Given the description of an element on the screen output the (x, y) to click on. 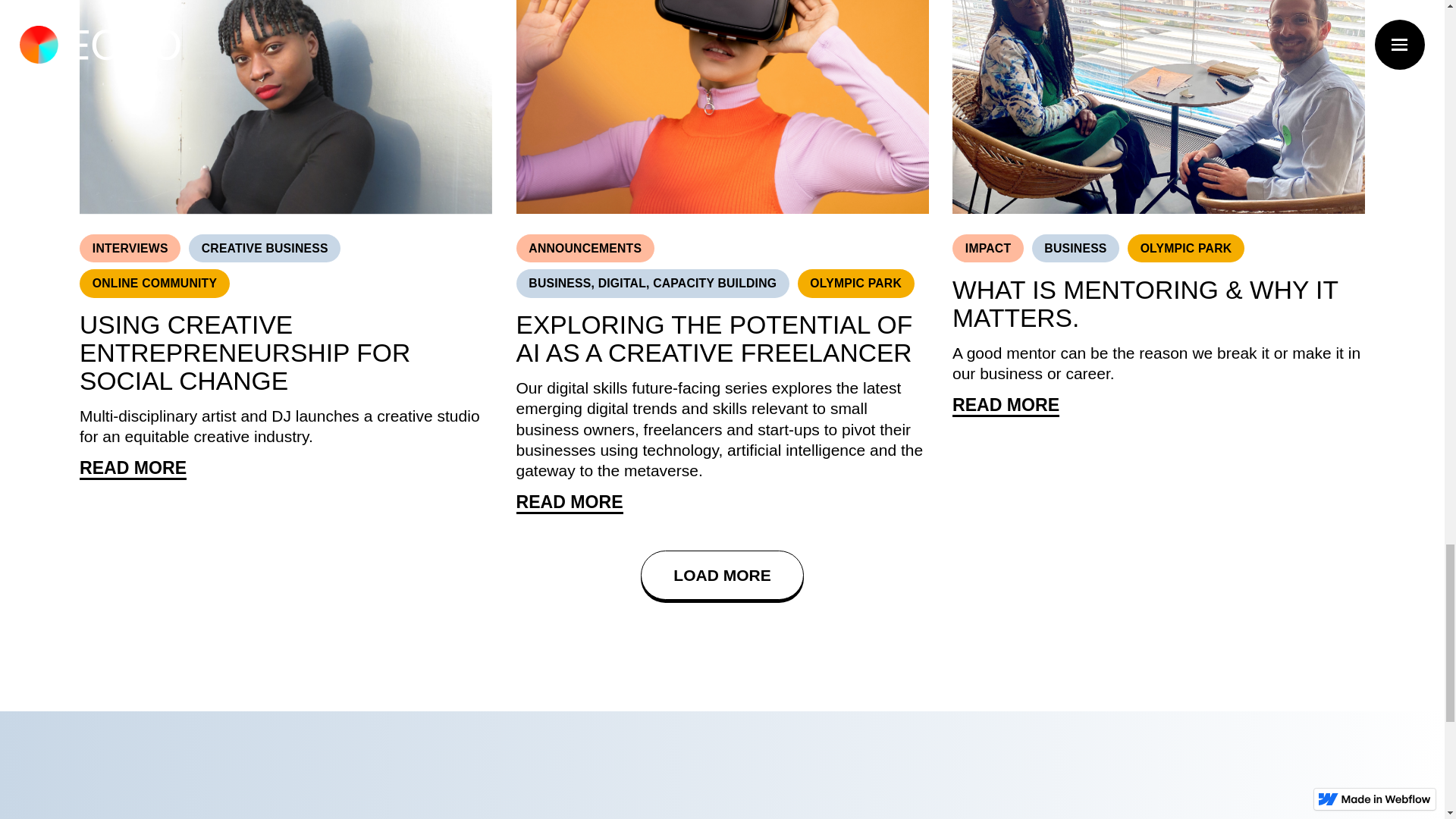
READ MORE (569, 503)
READ MORE (133, 469)
READ MORE (1005, 406)
LOAD MORE (721, 574)
